Given the description of an element on the screen output the (x, y) to click on. 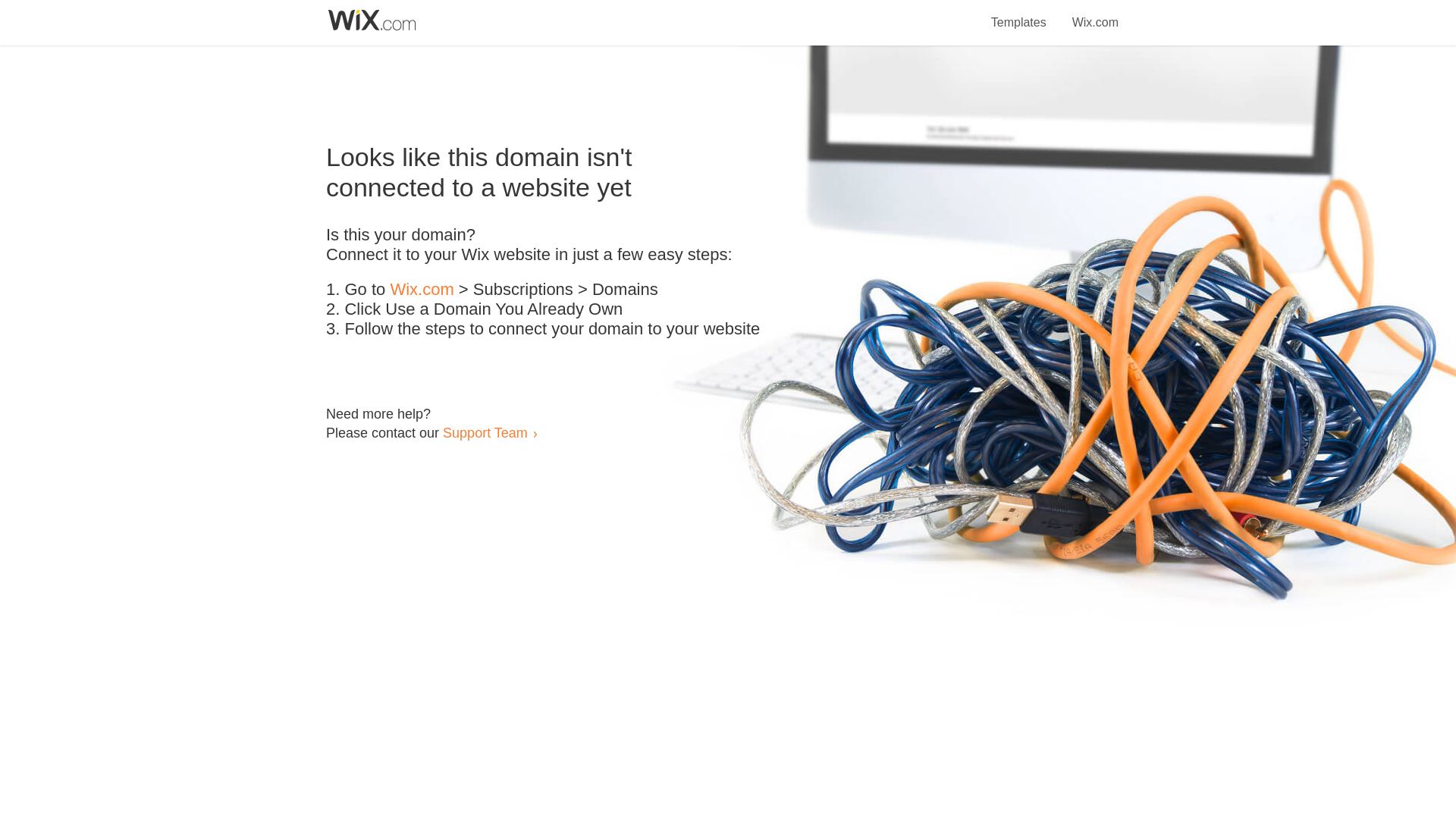
Templates (1018, 14)
Support Team (484, 432)
Wix.com (1095, 14)
Wix.com (421, 289)
